Given the description of an element on the screen output the (x, y) to click on. 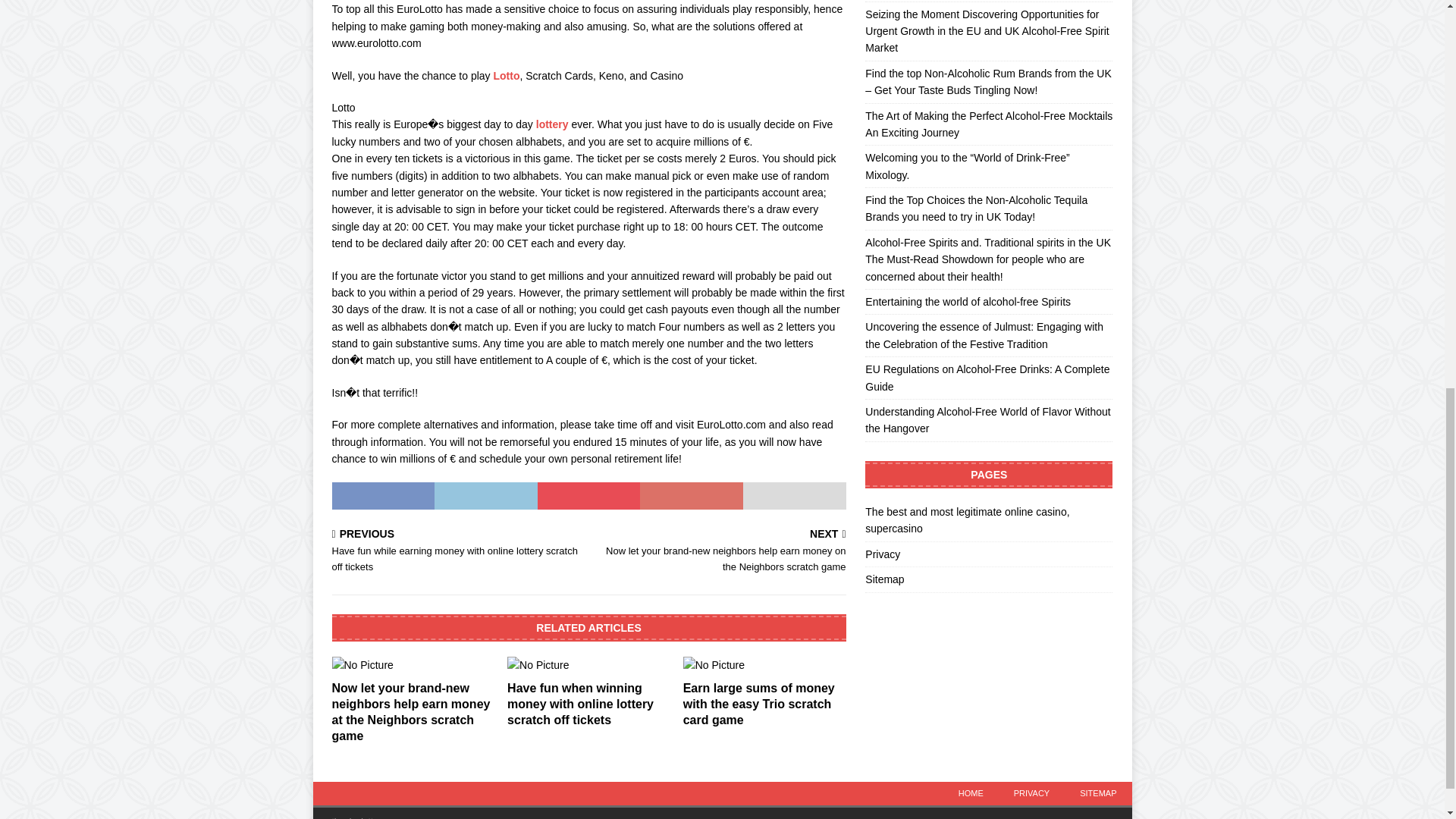
lottery (552, 123)
Lotto (506, 75)
